Given the description of an element on the screen output the (x, y) to click on. 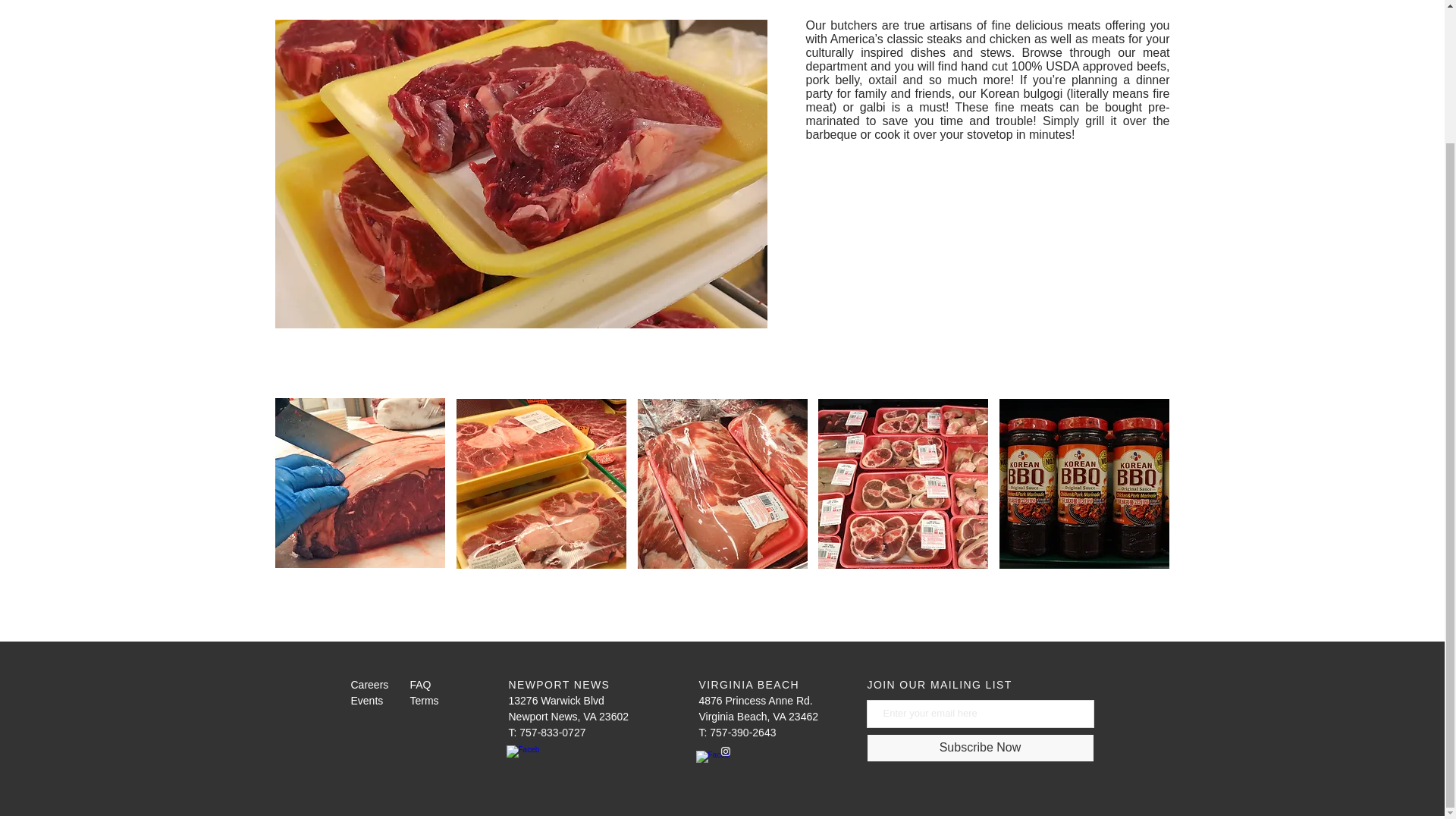
FAQ (419, 685)
Careers (369, 685)
Events (366, 700)
Terms (423, 700)
Subscribe Now (979, 747)
